Given the description of an element on the screen output the (x, y) to click on. 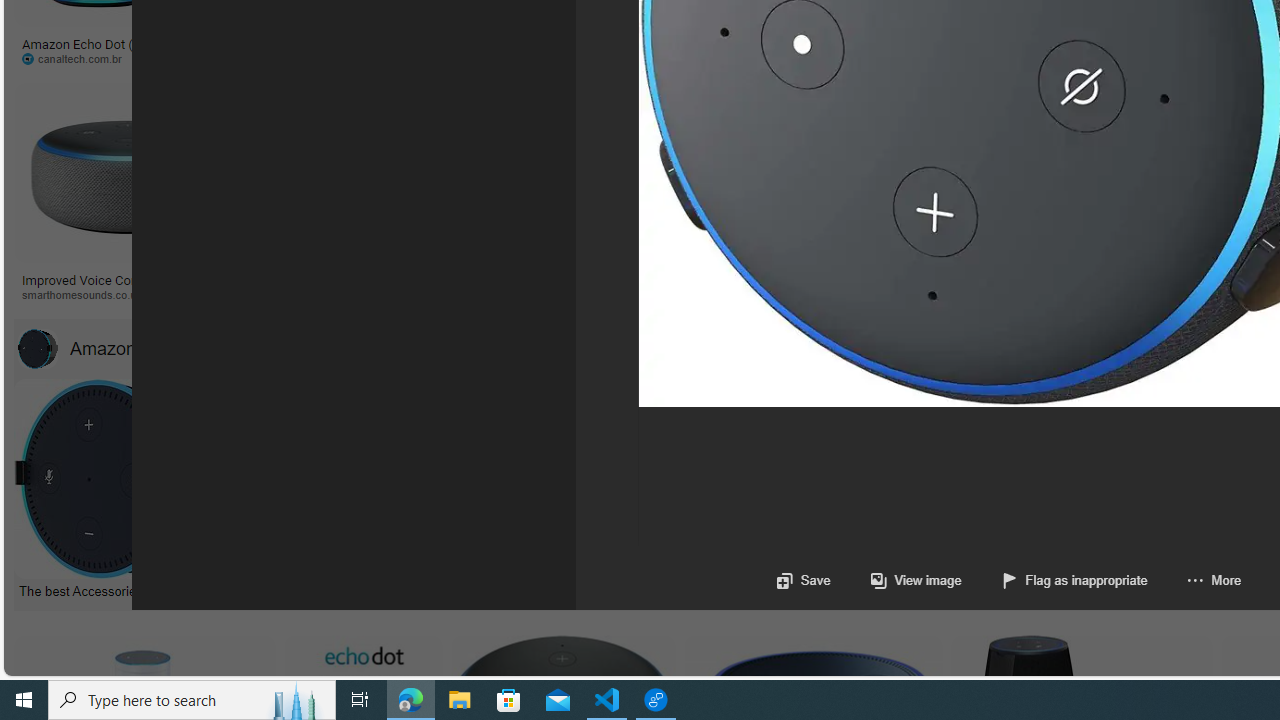
mediamarkt.es (1124, 294)
security.org (438, 295)
security.org (294, 294)
Save (802, 580)
Flag as inappropriate (1054, 580)
